Given the description of an element on the screen output the (x, y) to click on. 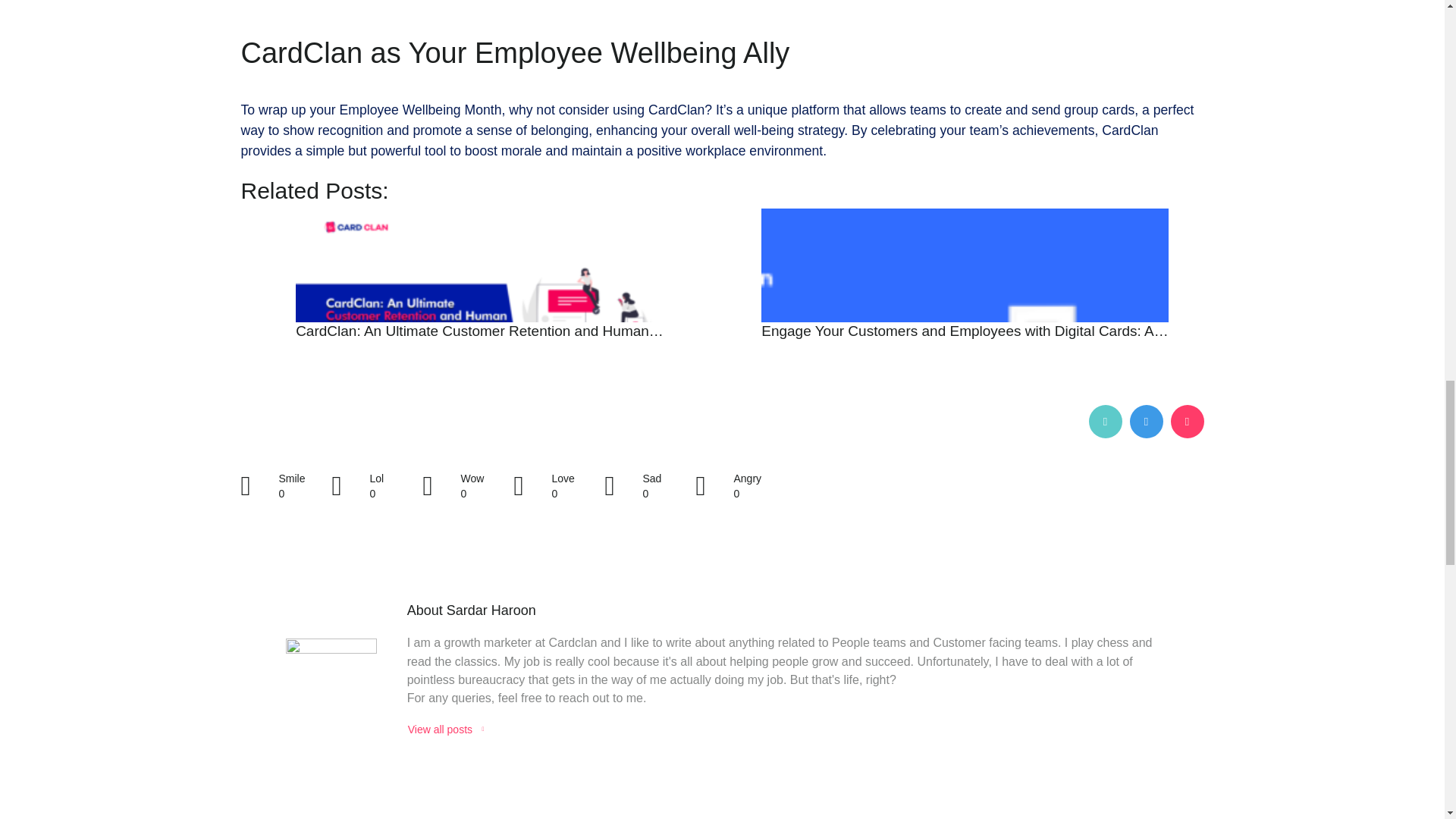
View all posts (445, 729)
